Given the description of an element on the screen output the (x, y) to click on. 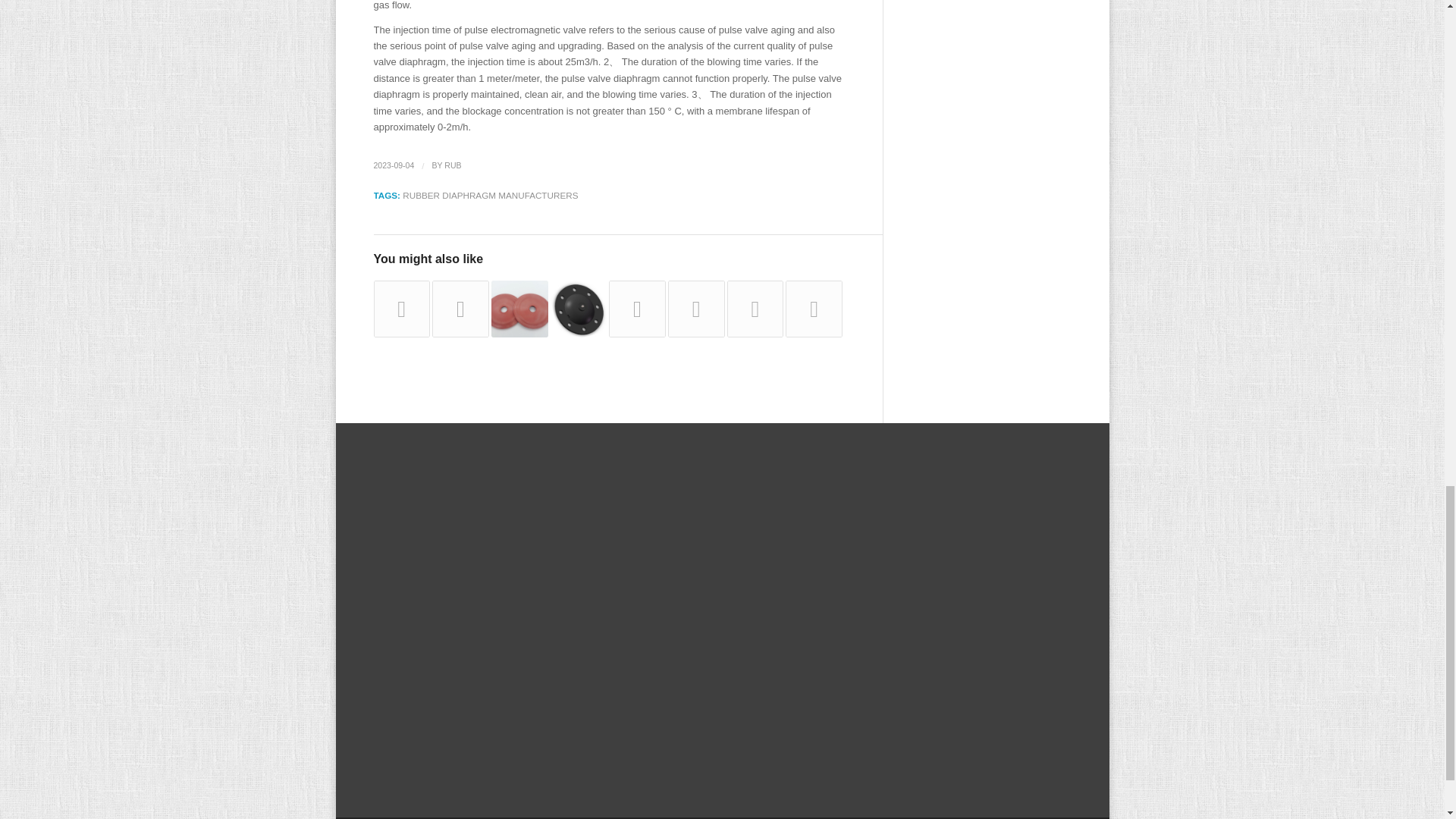
Posts by rub (452, 164)
